Given the description of an element on the screen output the (x, y) to click on. 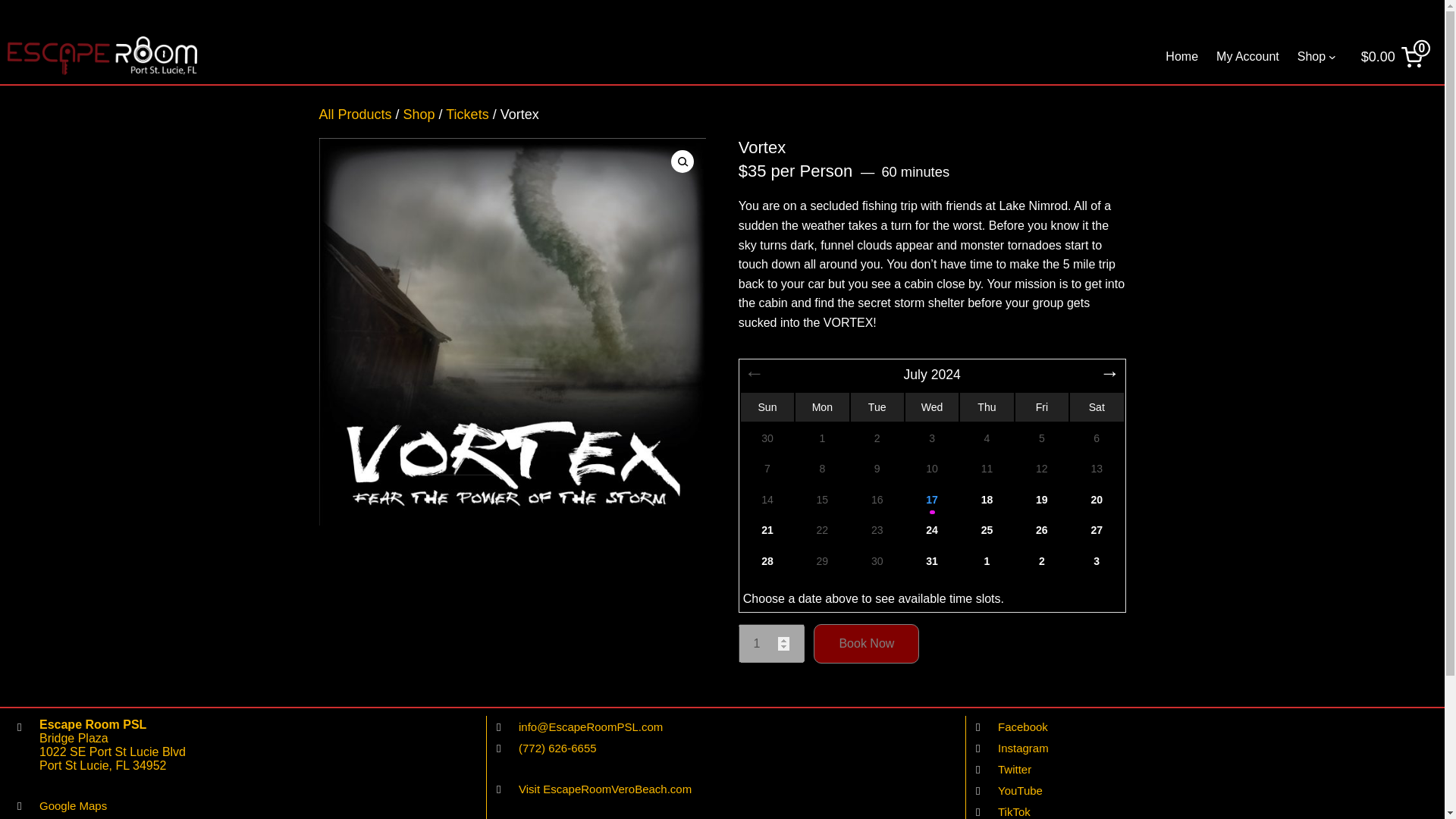
Next (1109, 374)
Next (1109, 374)
Shop (419, 114)
Wednesday (932, 407)
Thursday (985, 407)
1 (771, 643)
Shop (1310, 56)
20 (1096, 499)
Twitter (1013, 768)
Friday (1041, 407)
25 (986, 530)
26 (1041, 530)
All Products (354, 114)
Visit EscapeRoomVeroBeach.com (604, 788)
Book Now (865, 643)
